Given the description of an element on the screen output the (x, y) to click on. 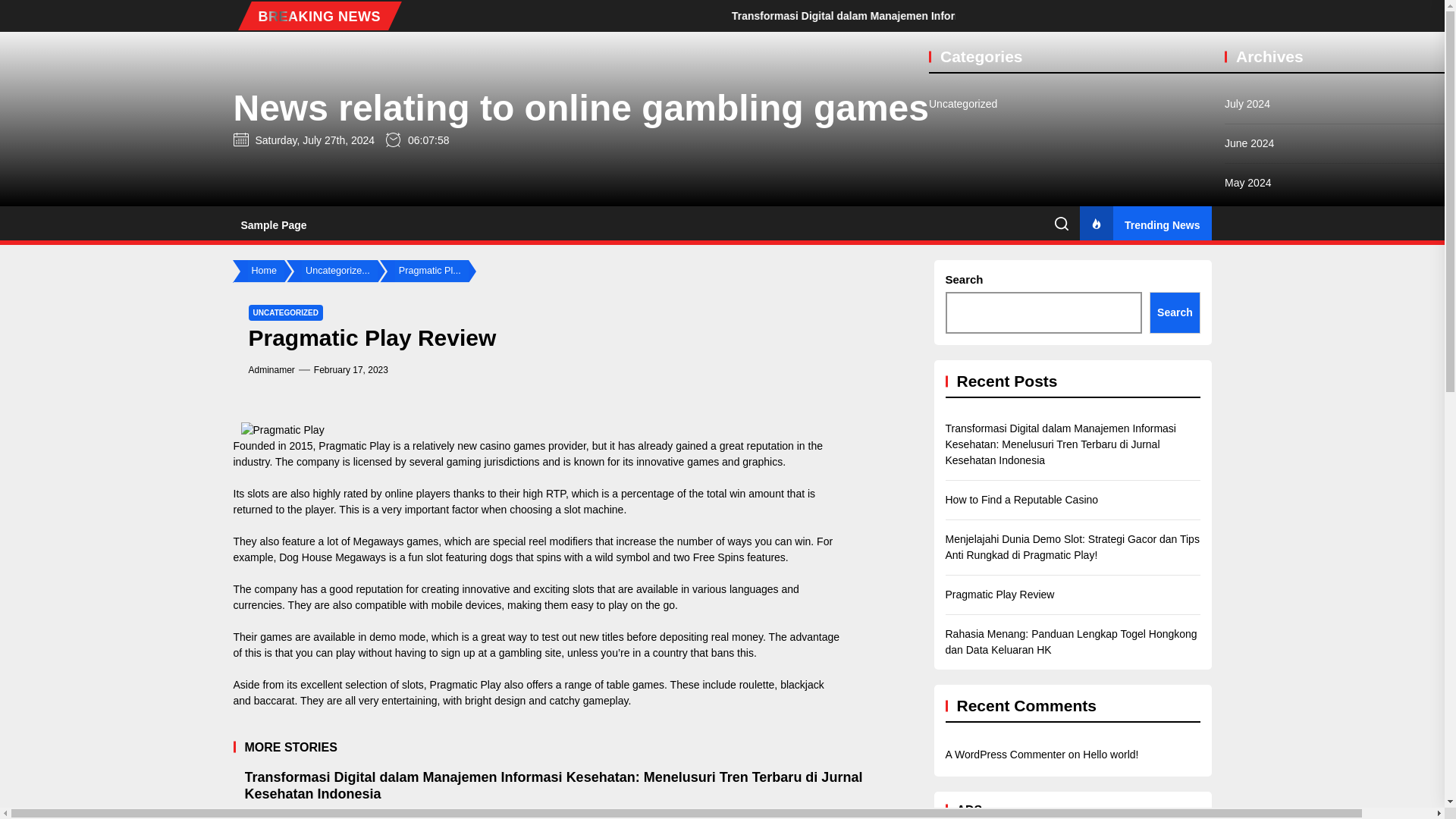
March 2023 (1252, 734)
April 2024 (1248, 222)
August 2023 (1254, 537)
November 2023 (1262, 419)
October 2023 (1256, 458)
February 2023 (1259, 774)
April 2023 (1248, 695)
July 2024 (1246, 104)
June 2024 (1249, 143)
June 2023 (1249, 616)
February 2024 (1259, 301)
September 2023 (1263, 498)
July 2023 (1246, 577)
May 2023 (1247, 656)
